Given the description of an element on the screen output the (x, y) to click on. 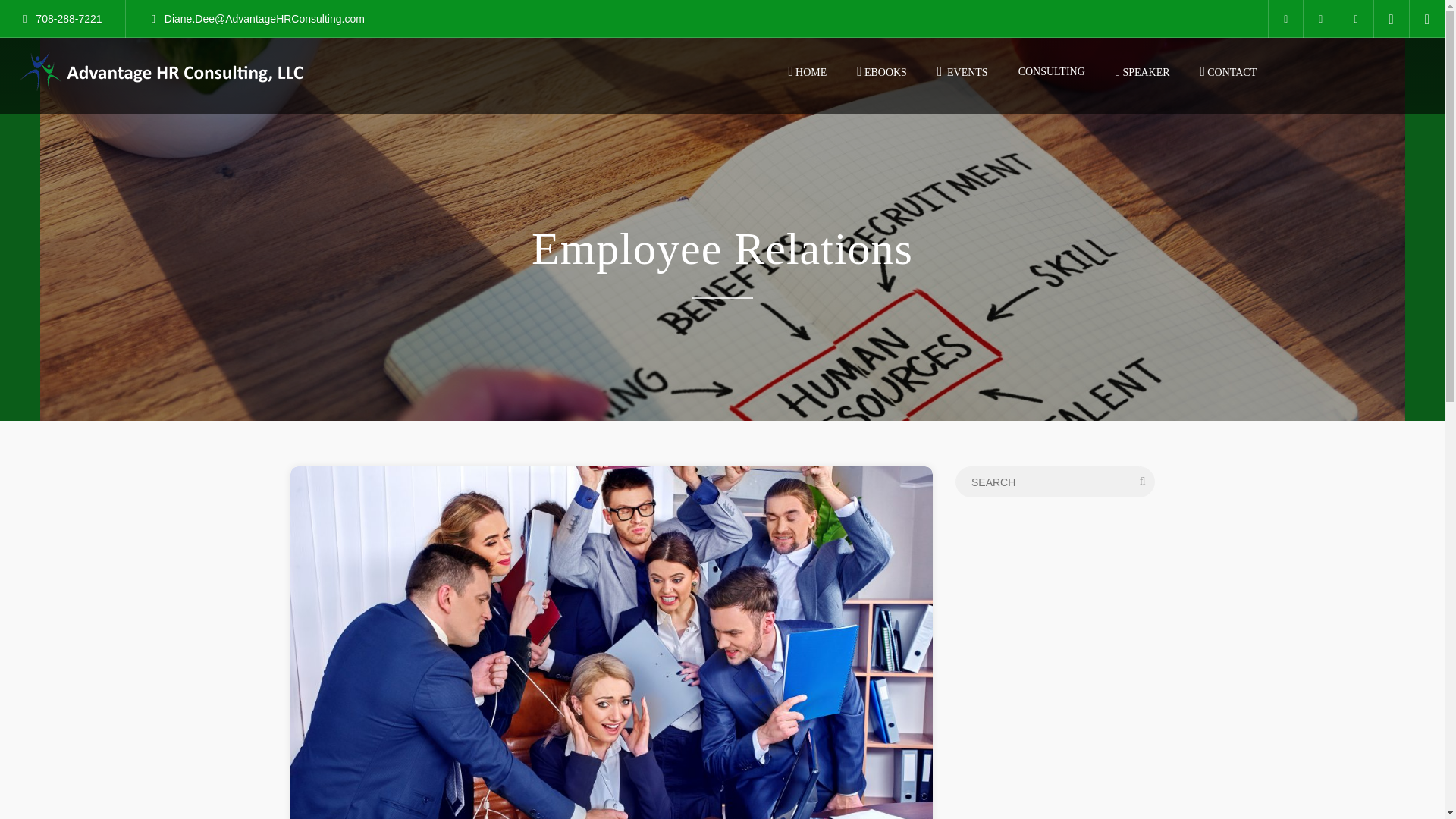
EBOOKS (878, 71)
Search (43, 15)
EVENTS (958, 71)
SPEAKER (1138, 71)
LinkedIn (1285, 18)
HOME (803, 71)
Home (162, 71)
CONSULTING (1047, 71)
708-288-7221 (62, 19)
Facebook (1320, 18)
CONTACT (1224, 71)
YouTube (1355, 18)
